Given the description of an element on the screen output the (x, y) to click on. 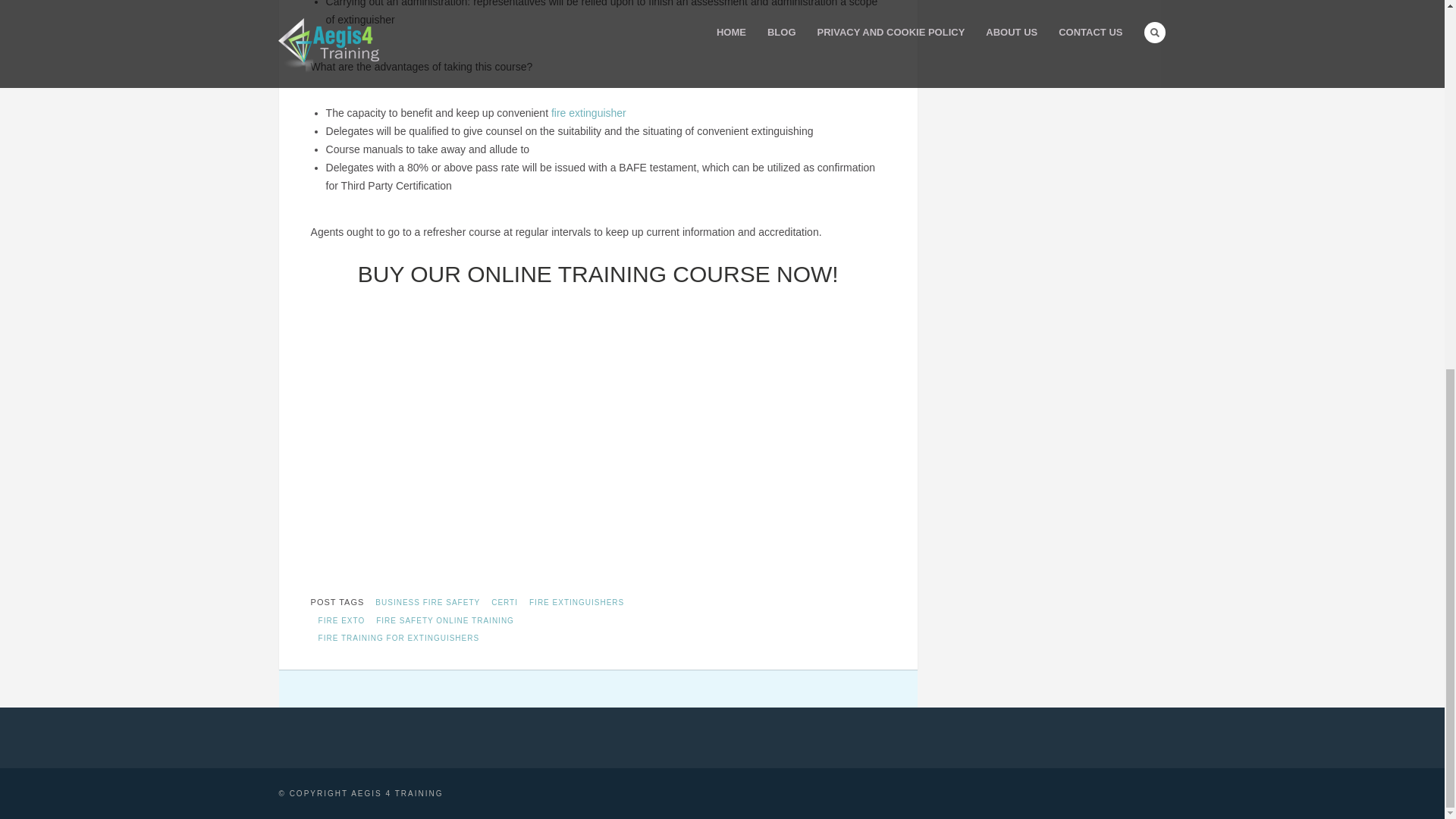
FIRE TRAINING FOR EXTINGUISHERS (398, 637)
FIRE EXTINGUISHERS (576, 602)
CERTI (504, 602)
fire extinguisher (588, 112)
BUSINESS FIRE SAFETY (427, 602)
FIRE SAFETY ONLINE TRAINING (445, 620)
FIRE EXTO (341, 620)
